Given the description of an element on the screen output the (x, y) to click on. 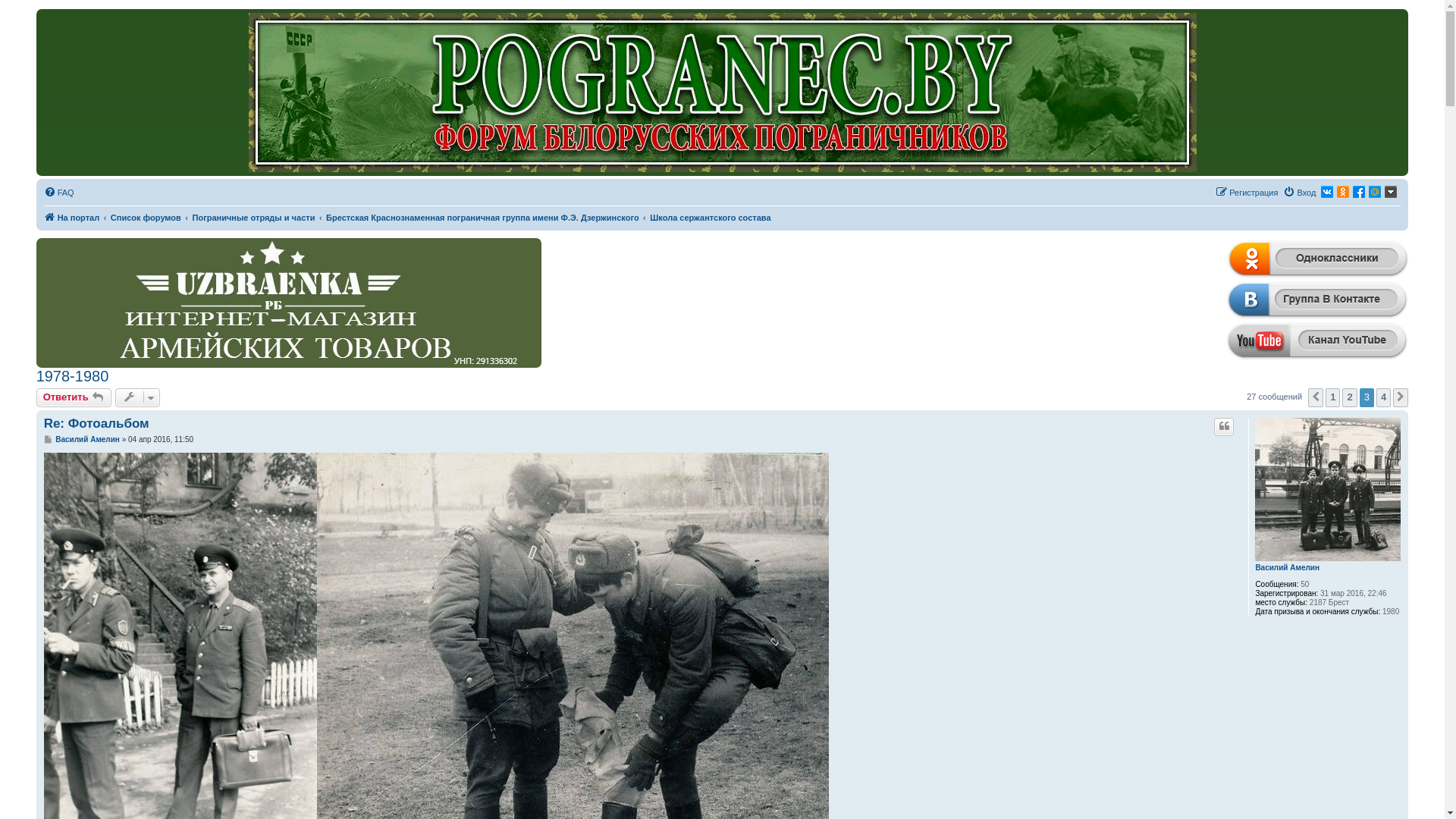
Odnoklassniki Element type: hover (1342, 191)
Mail.ru Element type: hover (1374, 191)
2 Element type: text (1349, 397)
FAQ Element type: text (58, 192)
4 Element type: text (1383, 397)
1 Element type: text (1332, 397)
1978-1980 Element type: text (72, 376)
Facebook Element type: hover (1358, 191)
VK Element type: hover (1327, 191)
